Given the description of an element on the screen output the (x, y) to click on. 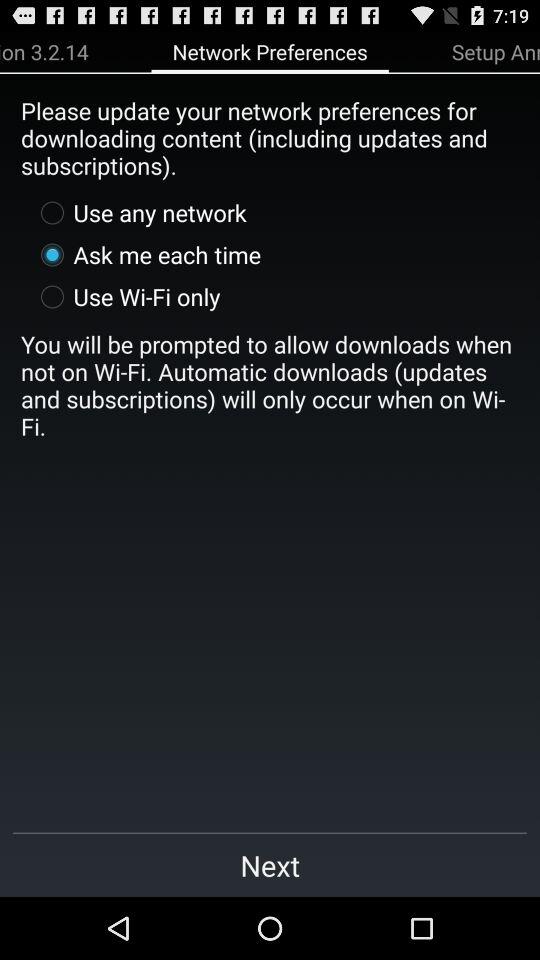
choose app above please update your icon (44, 51)
